Given the description of an element on the screen output the (x, y) to click on. 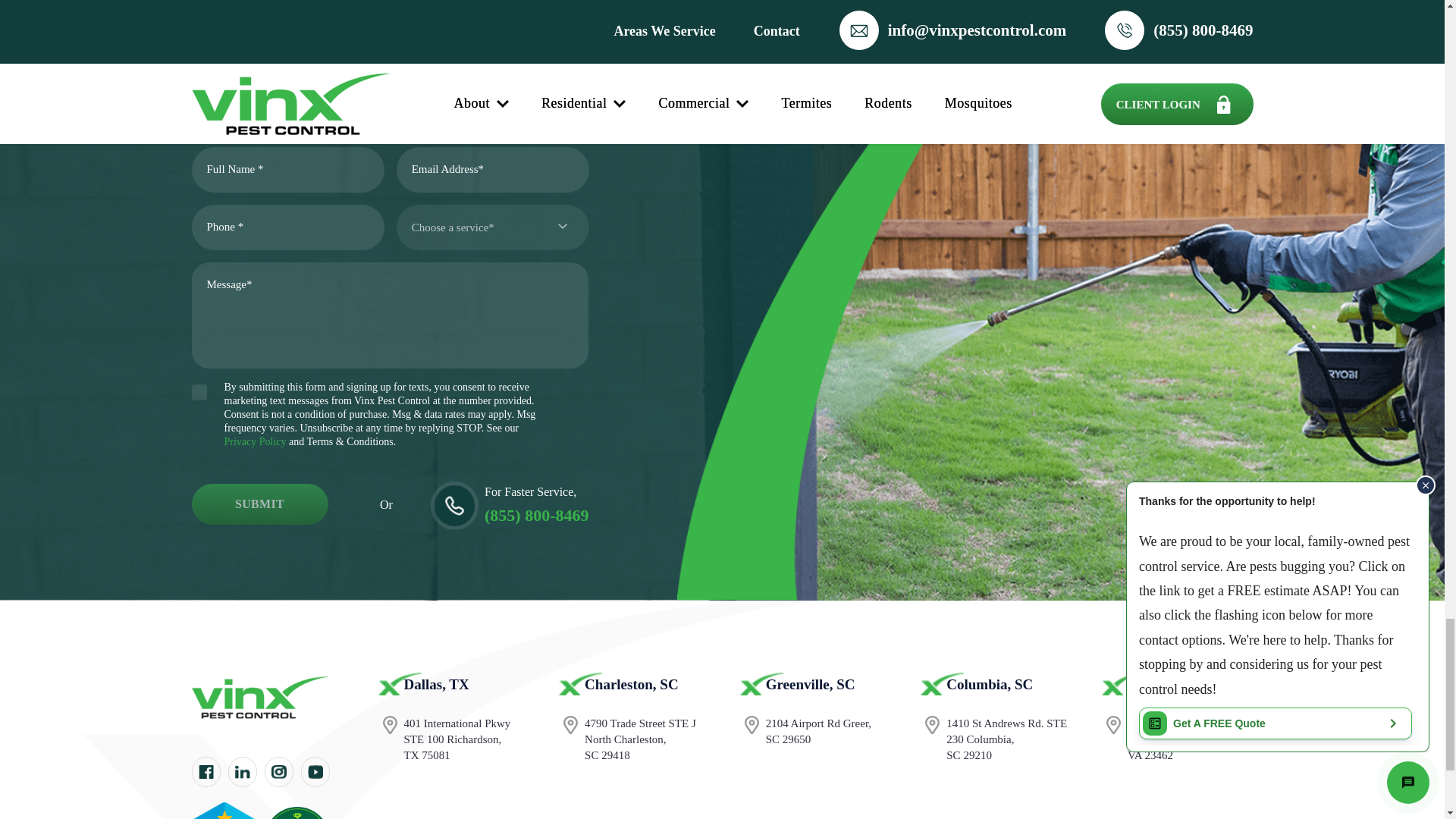
Yes (198, 392)
SUBMIT (258, 504)
